Given the description of an element on the screen output the (x, y) to click on. 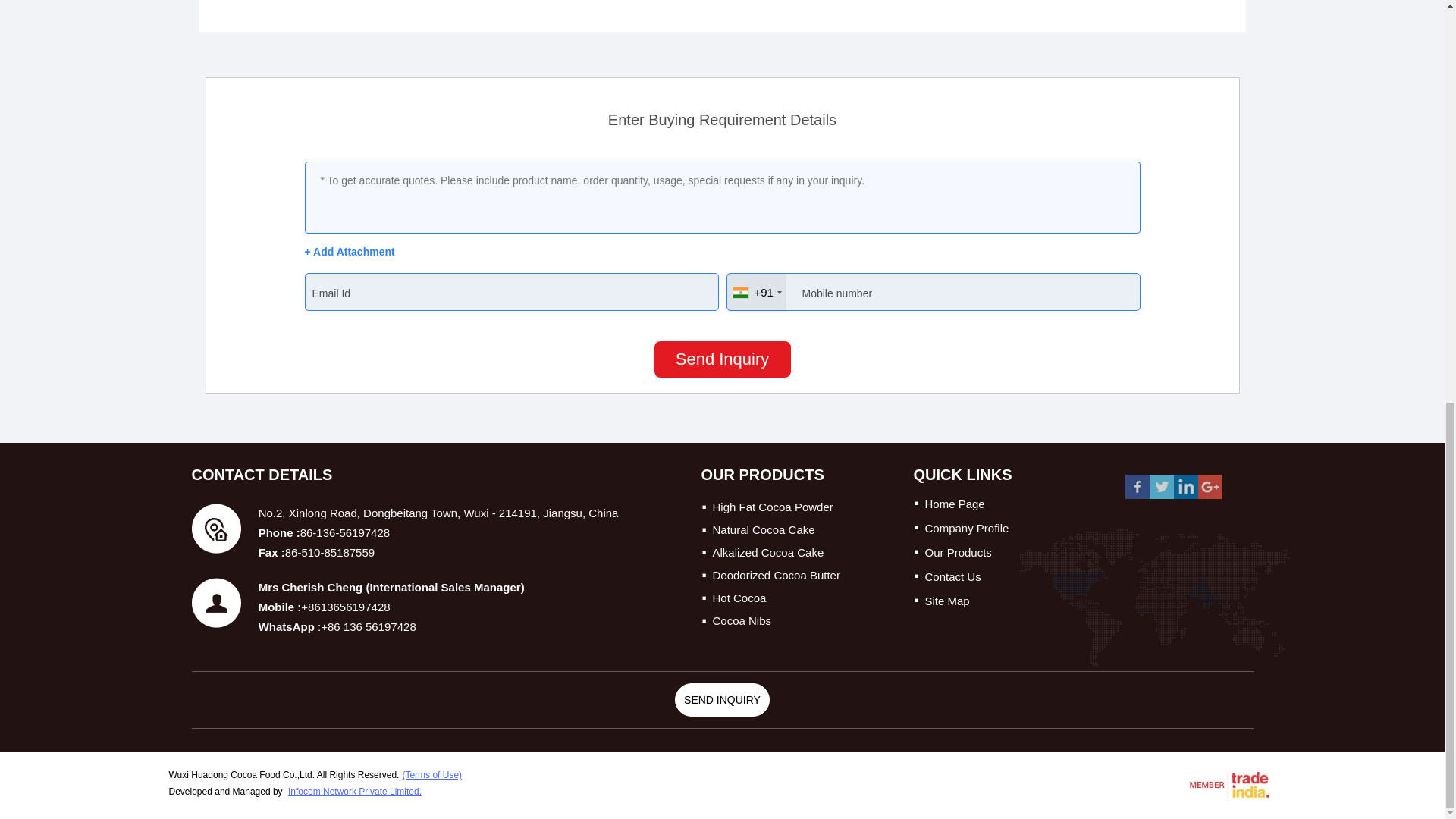
Key Personnel (215, 603)
Facebook (1137, 496)
Google Plus (1210, 496)
Send Inquiry (721, 359)
Address (215, 528)
LinkedIn (1185, 496)
Twitter (1161, 496)
